Given the description of an element on the screen output the (x, y) to click on. 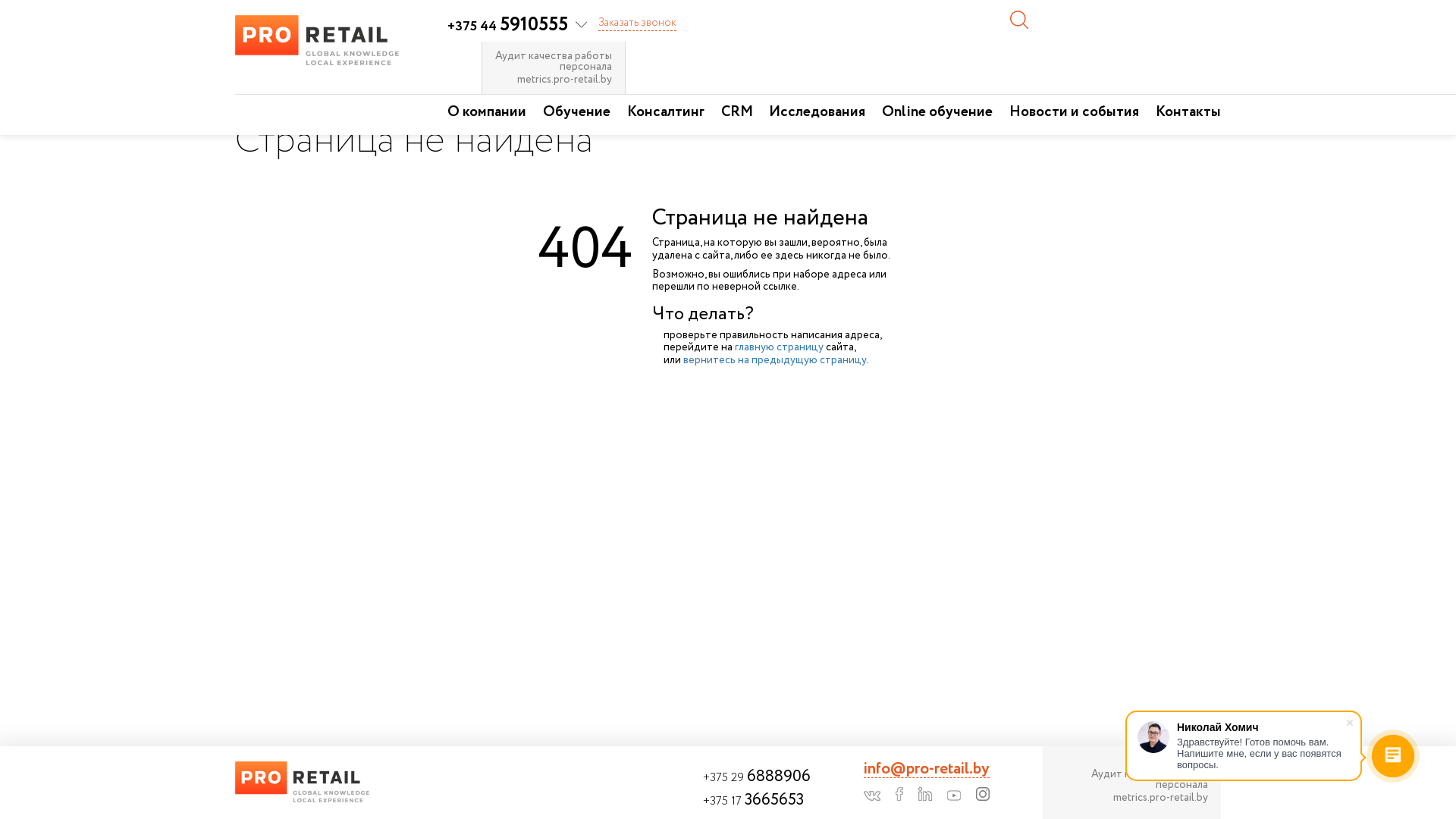
CRM Element type: text (737, 114)
metrics.pro-retail.by Element type: text (553, 79)
+375 44 5910555 Element type: text (516, 26)
metrics.pro-retail.by Element type: text (1131, 797)
info@pro-retail.by Element type: text (926, 769)
